Given the description of an element on the screen output the (x, y) to click on. 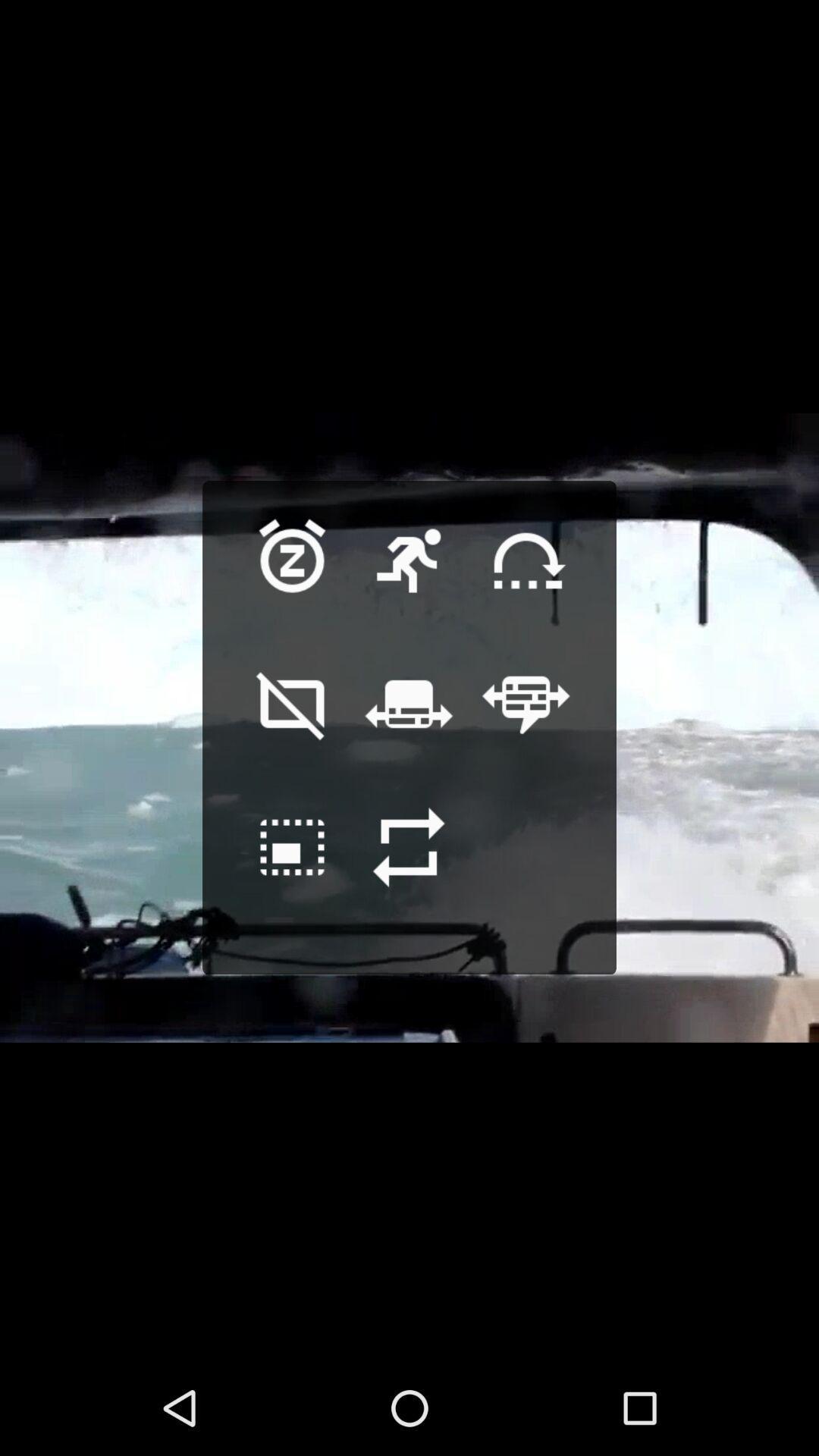
click to synchronize (292, 870)
